Given the description of an element on the screen output the (x, y) to click on. 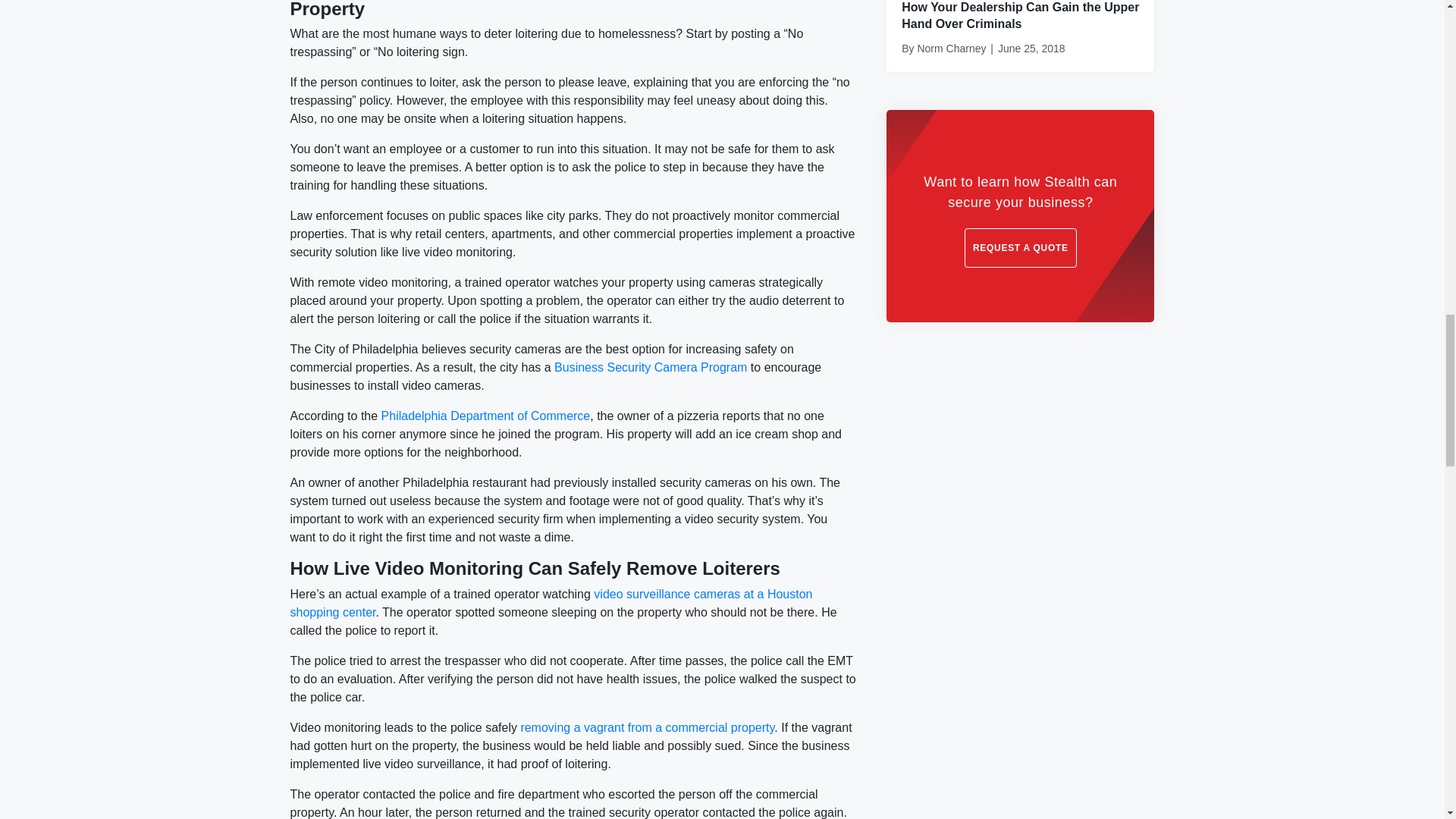
How Your Dealership Can Gain the Upper Hand Over Criminals (1019, 15)
